Given the description of an element on the screen output the (x, y) to click on. 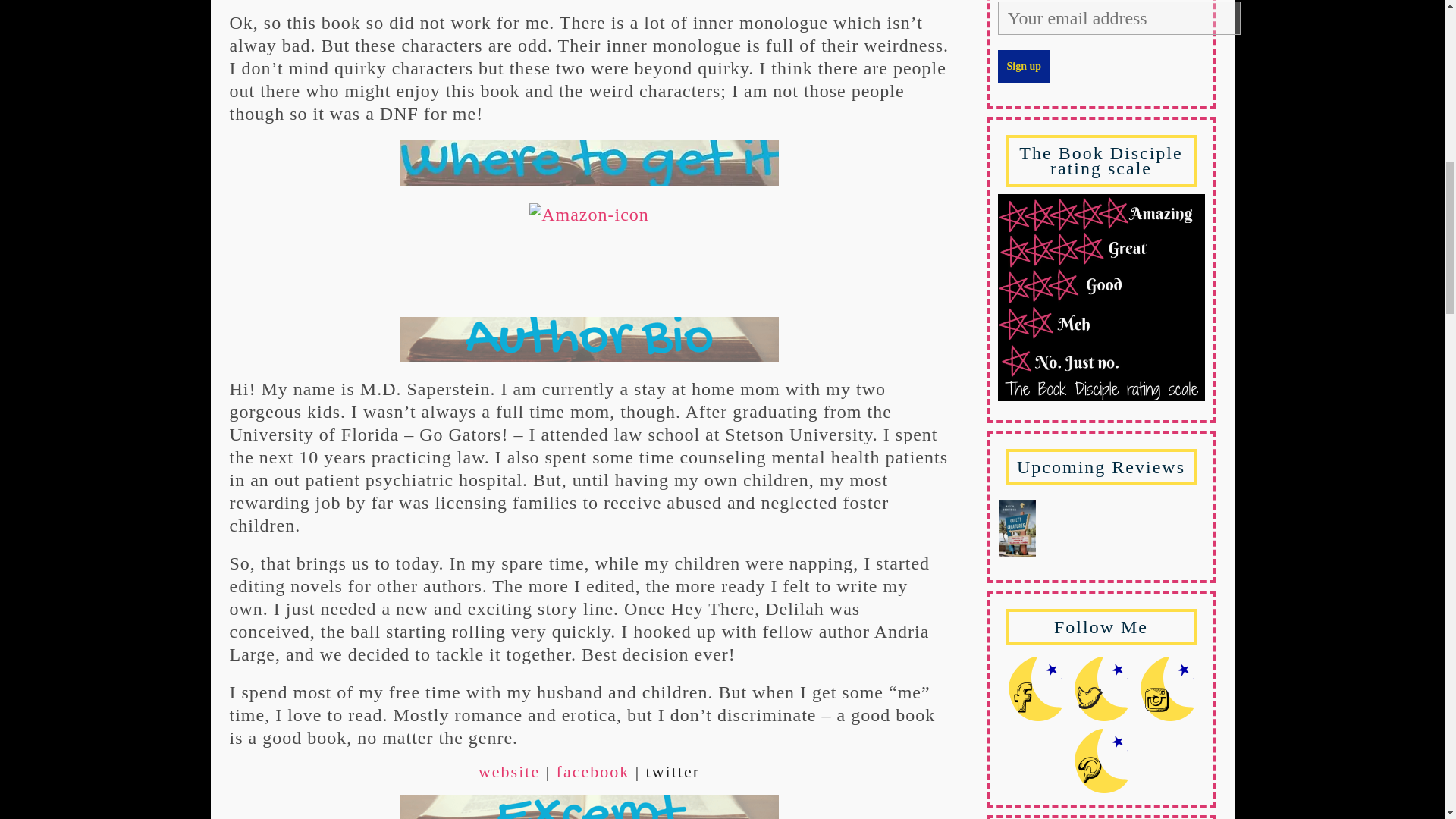
Sign up (1024, 66)
facebook (593, 771)
website (509, 771)
